Given the description of an element on the screen output the (x, y) to click on. 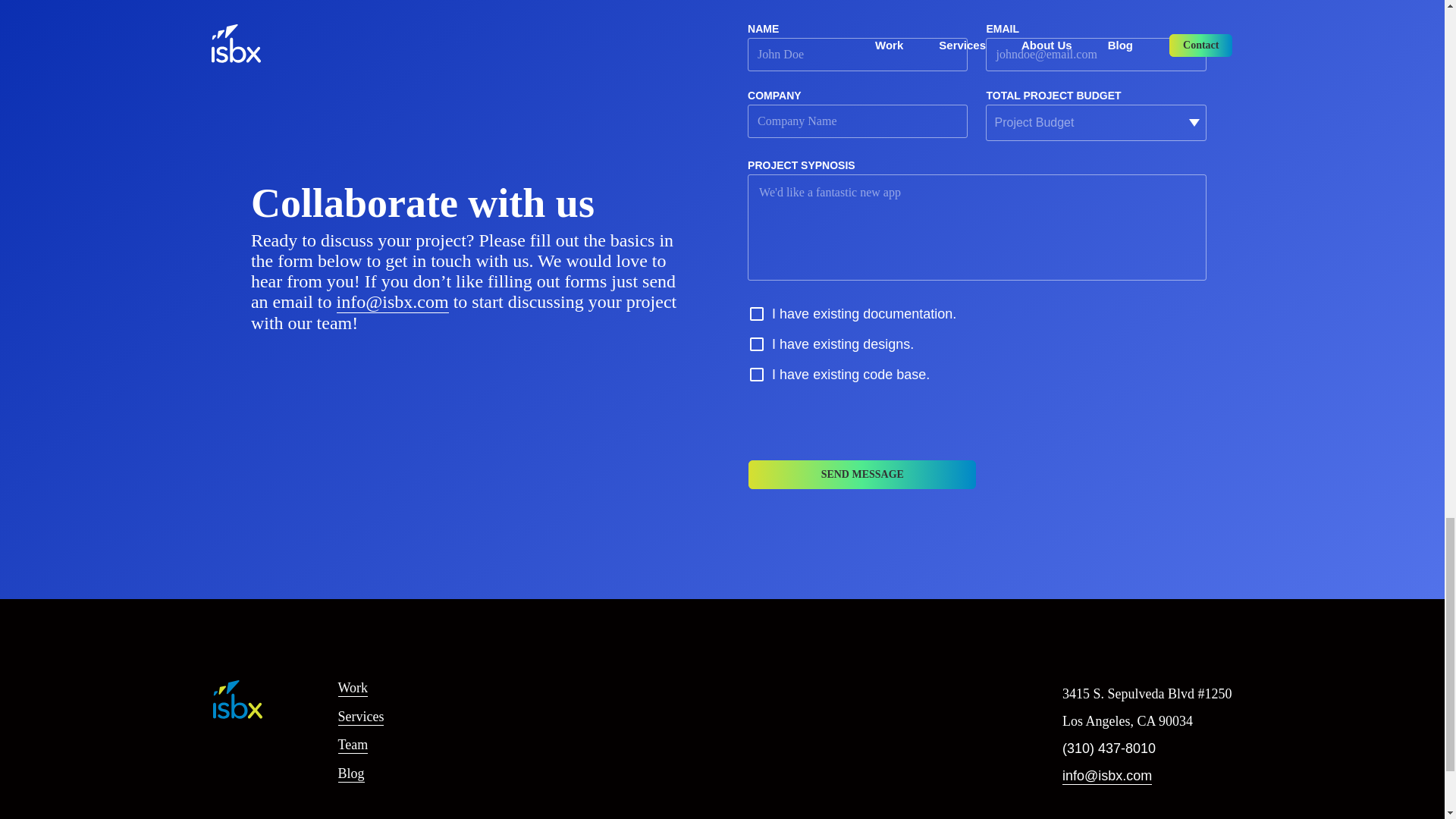
Blog (351, 773)
Services (360, 716)
SEND MESSAGE (862, 474)
Team (352, 745)
Work (352, 688)
